Given the description of an element on the screen output the (x, y) to click on. 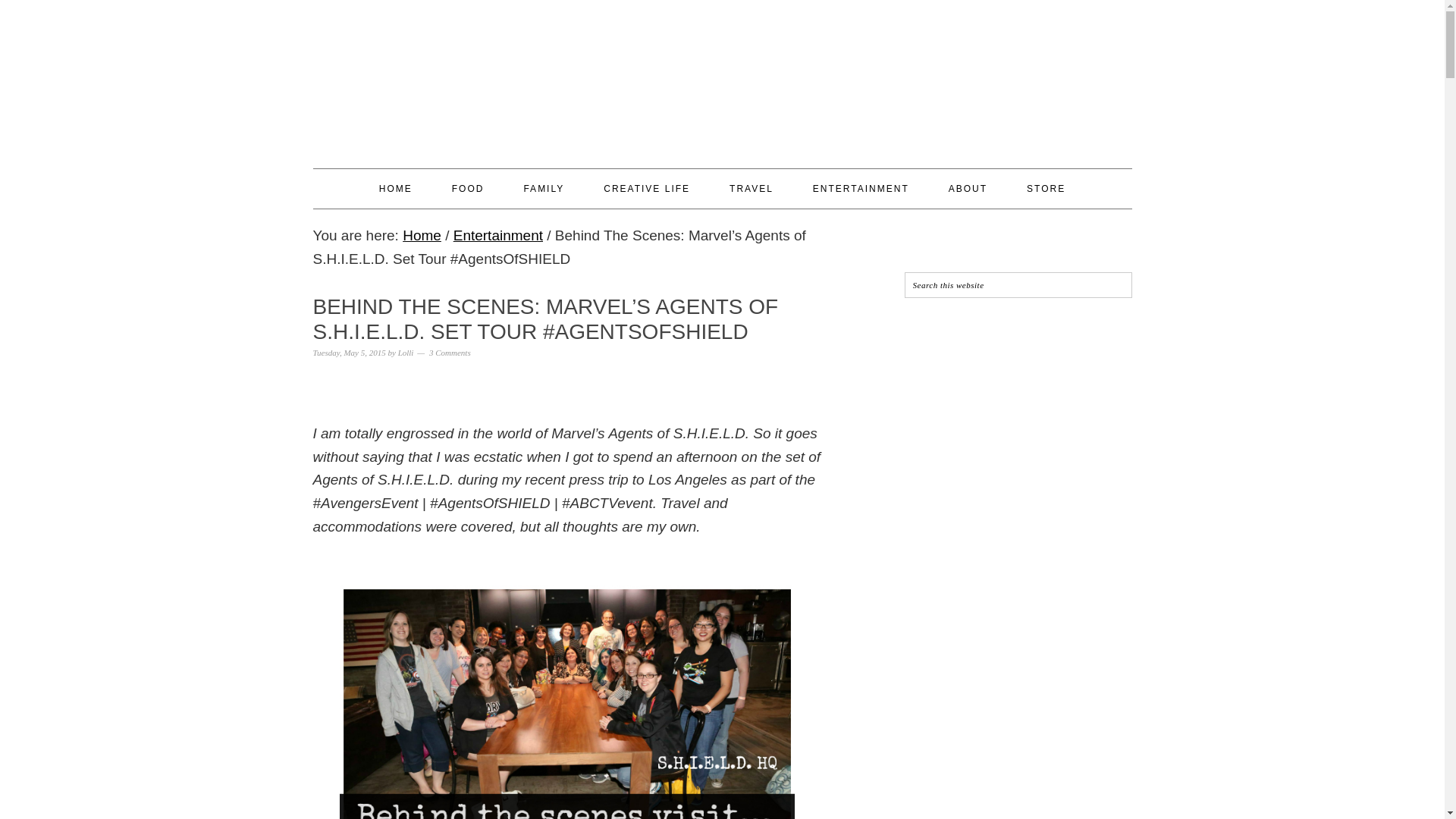
HOME (394, 188)
Lolli (405, 352)
Entertainment (497, 235)
3 Comments (449, 352)
CREATIVE LIFE (647, 188)
ABOUT (968, 188)
Home (422, 235)
FAMILY (543, 188)
STORE (1045, 188)
FOOD FUN FAMILY (722, 77)
FOOD (467, 188)
ENTERTAINMENT (860, 188)
TRAVEL (751, 188)
